Given the description of an element on the screen output the (x, y) to click on. 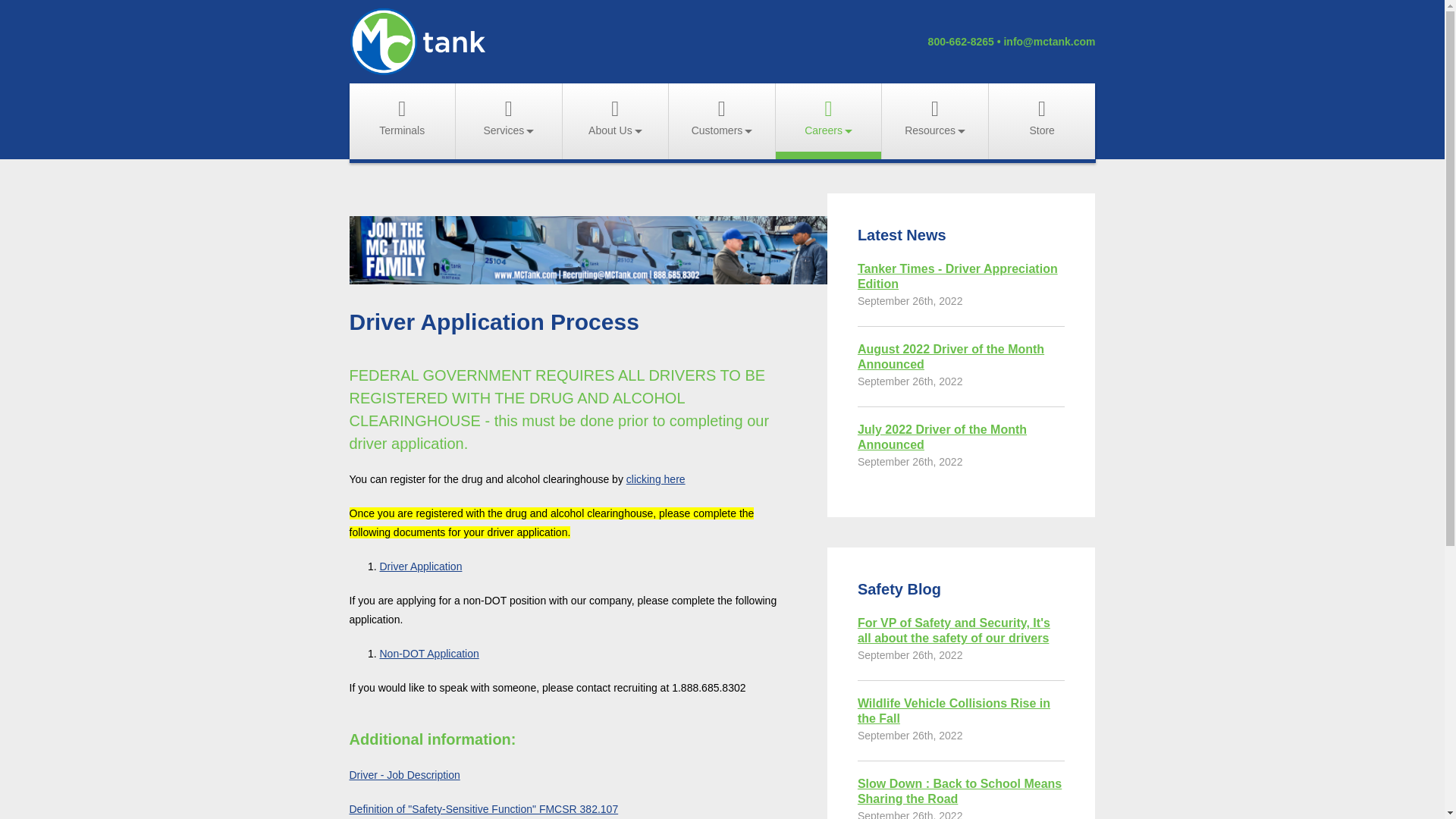
Services (508, 120)
Slow Down : Back to School Means Sharing the Road (961, 791)
About Us (615, 120)
800-662-8265 (961, 41)
Store (1042, 120)
Customers (721, 120)
clicking here (655, 479)
Non-DOT Application (428, 653)
Driver - Job Description (404, 775)
Careers (829, 120)
Tanker Times - Driver Appreciation Edition (961, 276)
Resources (935, 120)
Driver Application (419, 566)
July 2022 Driver of the Month Announced (961, 437)
August 2022 Driver of the Month Announced (961, 357)
